Given the description of an element on the screen output the (x, y) to click on. 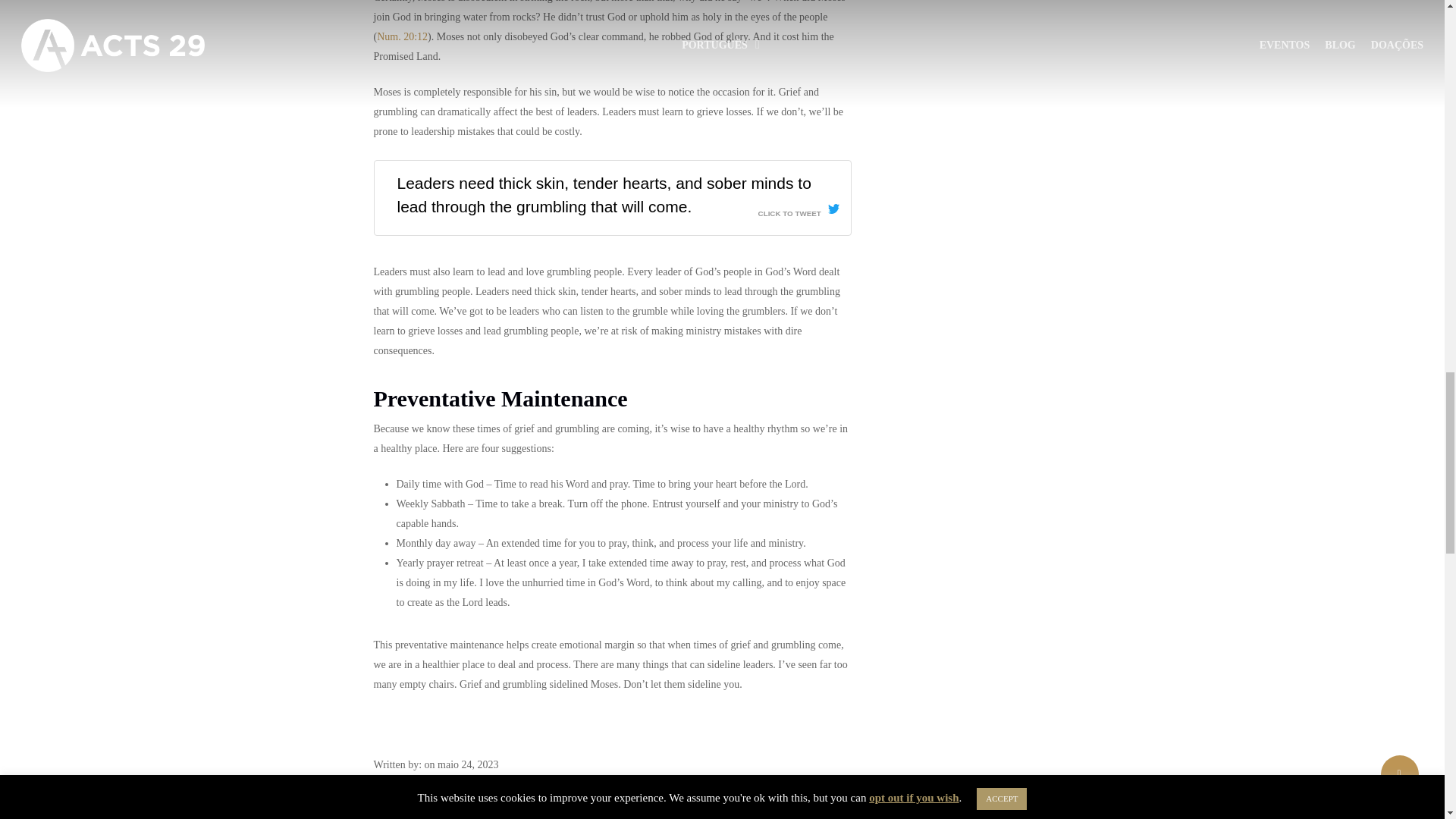
Num. 20:12 (402, 35)
CLICK TO TWEET (799, 209)
